Given the description of an element on the screen output the (x, y) to click on. 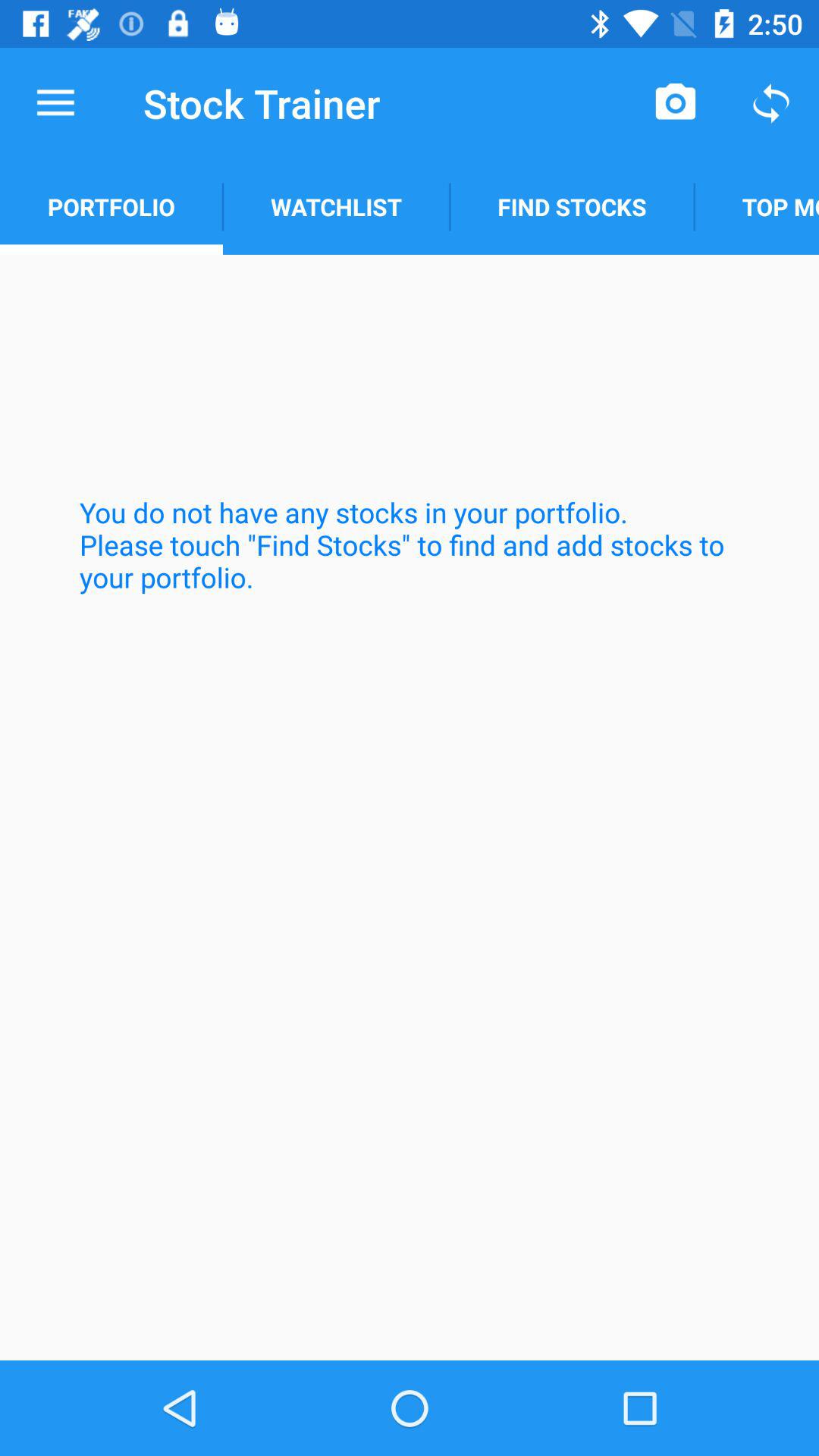
open item above find stocks icon (675, 103)
